Given the description of an element on the screen output the (x, y) to click on. 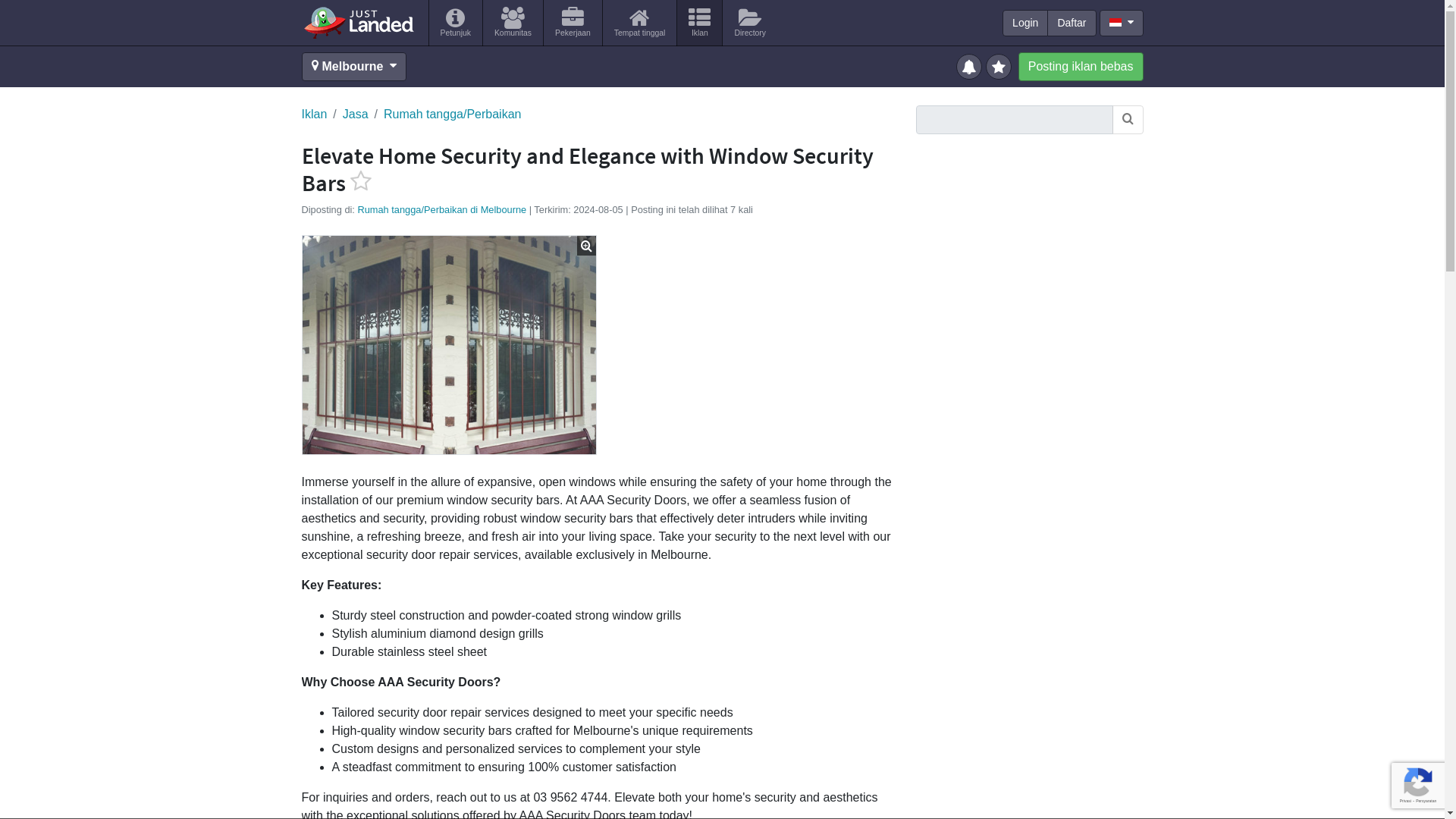
Just Landed (357, 22)
Melbourne (354, 66)
Indonesian (1114, 22)
Posting iklan bebas (1079, 66)
Pekerjaan di Melbourne (572, 22)
Petunjuk (455, 22)
Just Landed (357, 22)
Directory di Melbourne (749, 22)
Login (1025, 22)
Iklan di Melbourne (699, 22)
